Given the description of an element on the screen output the (x, y) to click on. 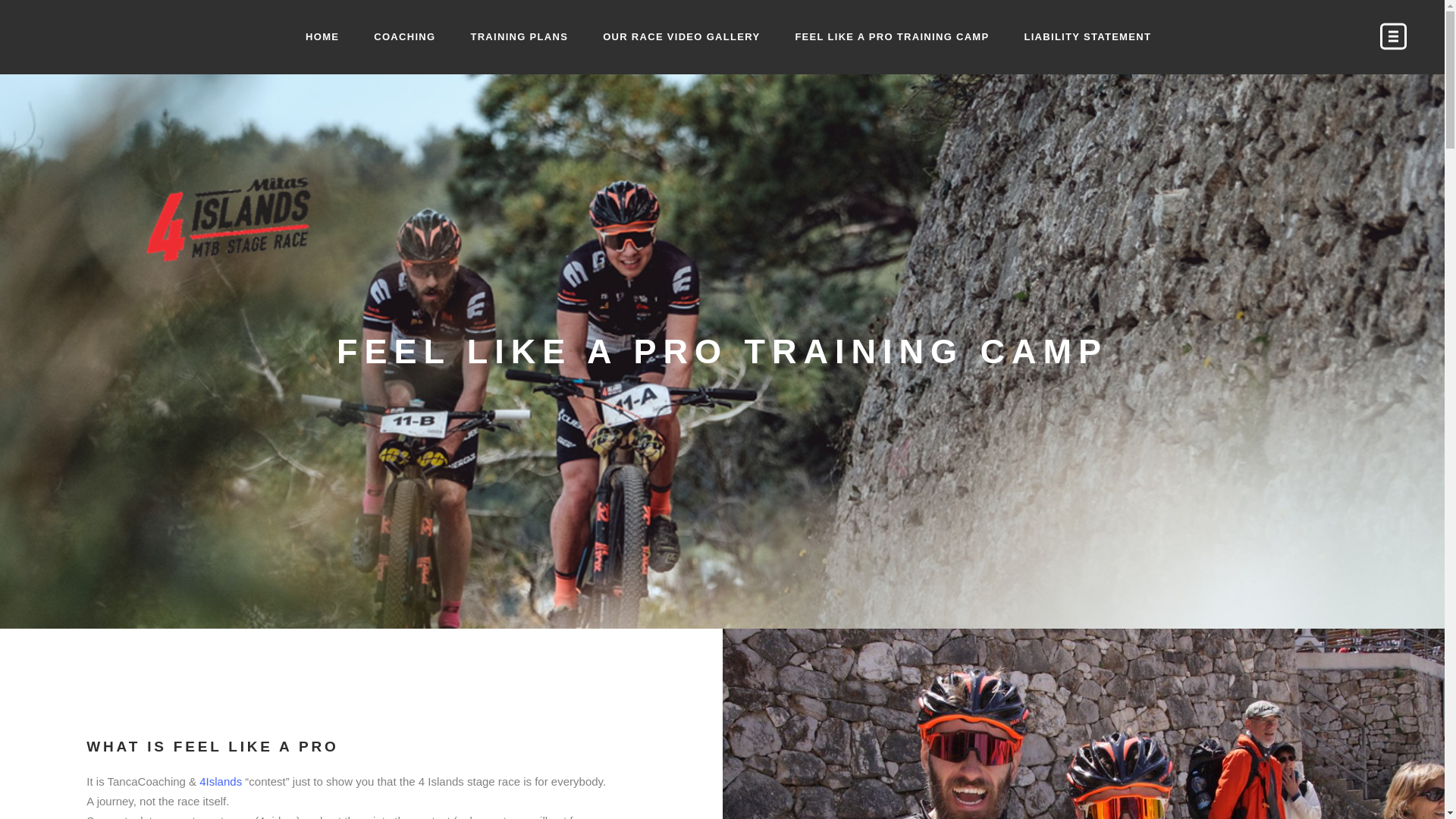
HOME (322, 37)
OUR RACE VIDEO GALLERY (681, 37)
TRAINING PLANS (518, 37)
FEEL LIKE A PRO TRAINING CAMP (891, 37)
LIABILITY STATEMENT (1087, 37)
COACHING (404, 37)
